Given the description of an element on the screen output the (x, y) to click on. 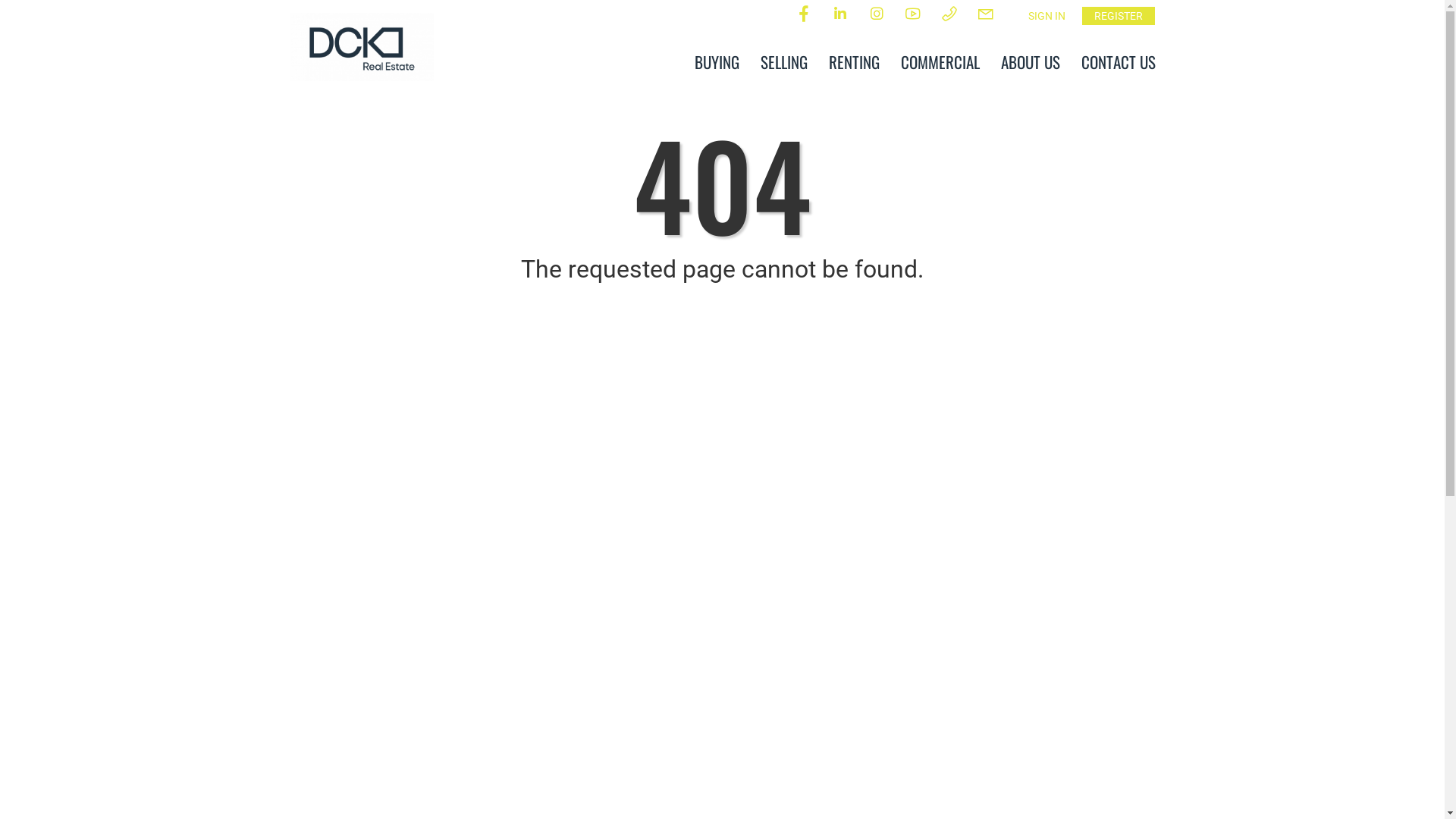
ABOUT US Element type: text (1030, 61)
SIGN IN Element type: text (1046, 15)
COMMERCIAL Element type: text (940, 61)
CONTACT US Element type: text (1118, 61)
RENTING Element type: text (853, 61)
REGISTER Element type: text (1117, 15)
BUYING Element type: text (716, 61)
SELLING Element type: text (783, 61)
